Given the description of an element on the screen output the (x, y) to click on. 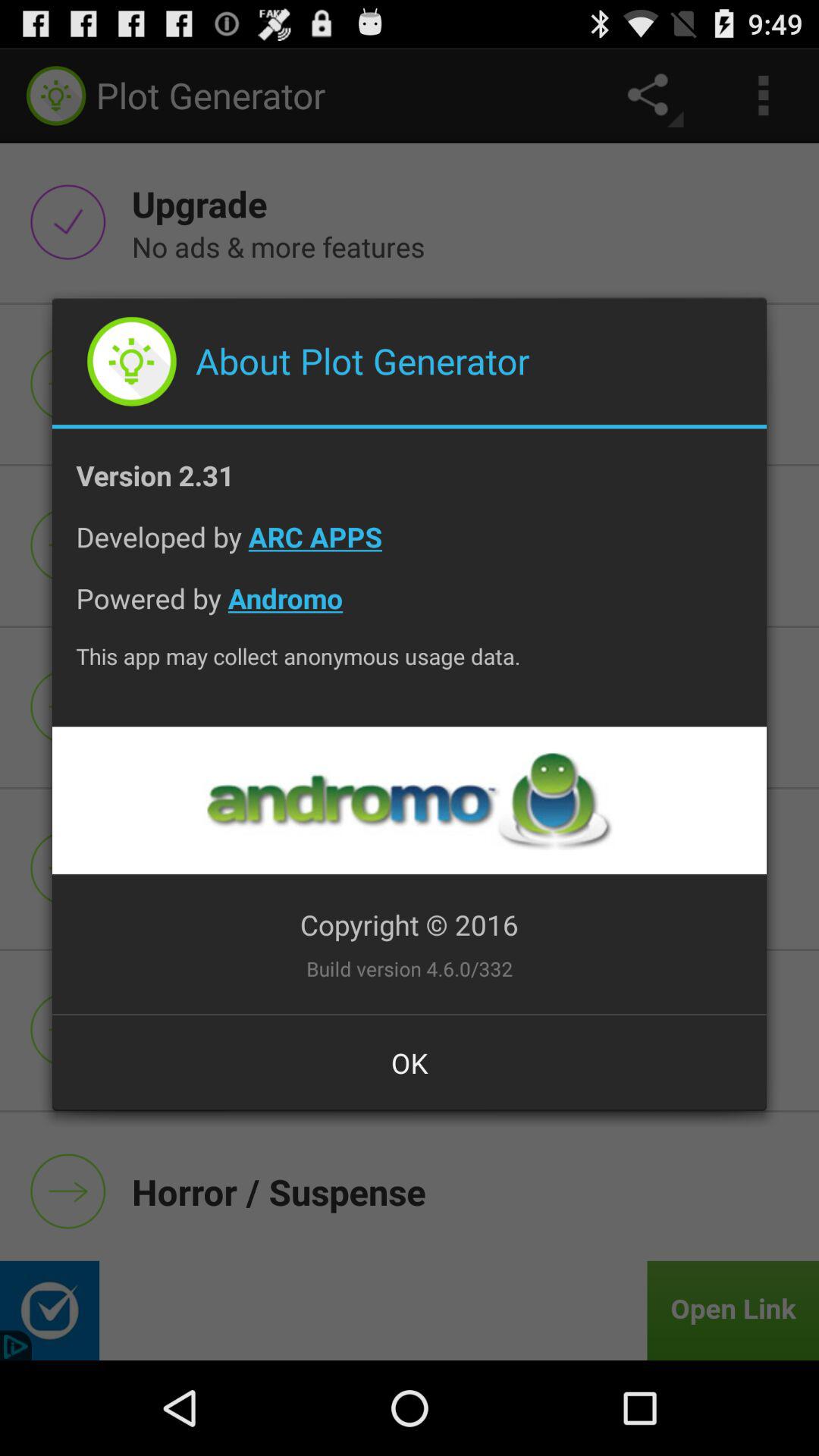
launch the item at the bottom (409, 1062)
